Given the description of an element on the screen output the (x, y) to click on. 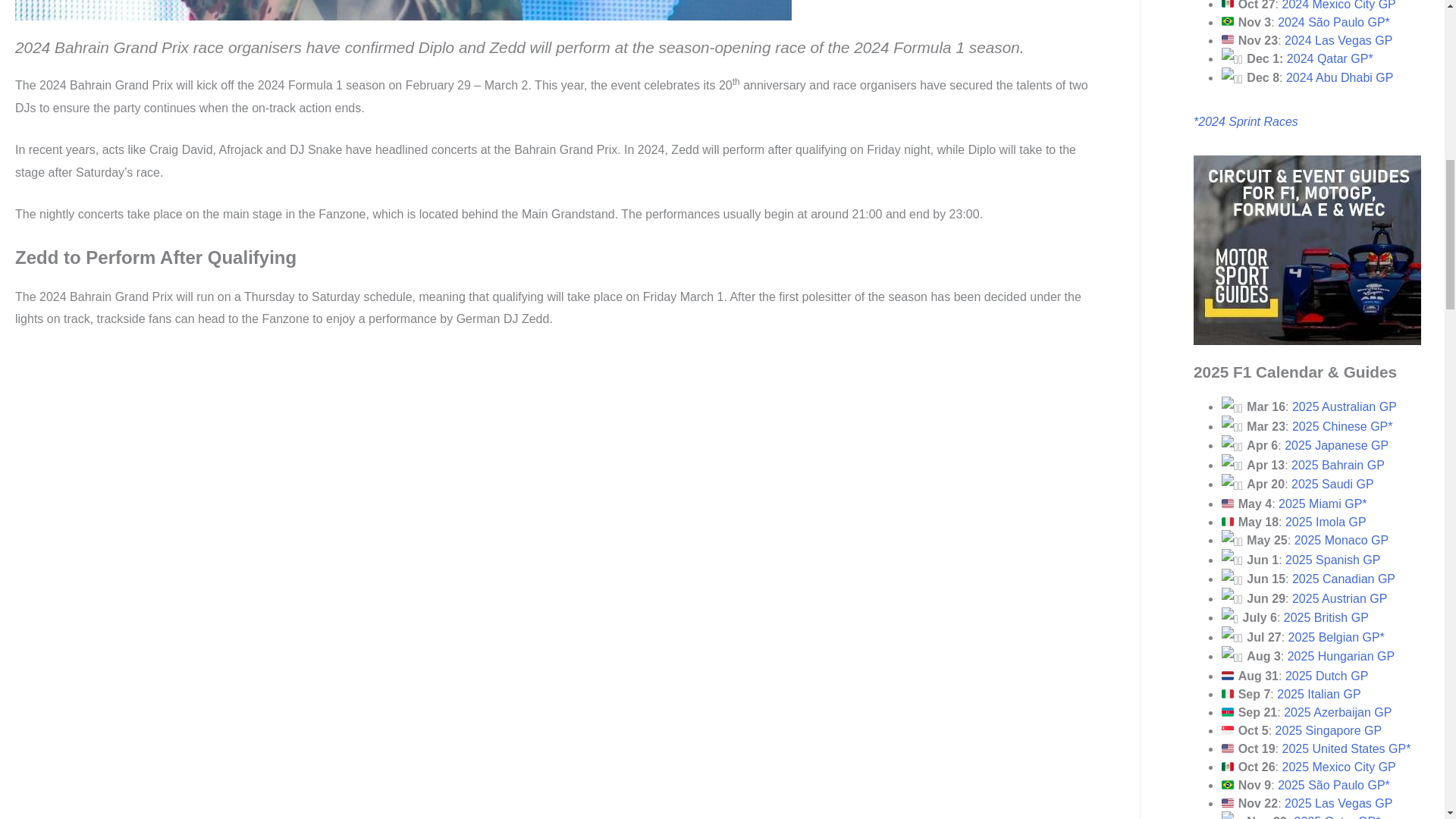
Races (1280, 121)
2024 Las Vegas GP (1337, 40)
2024 Mexico City GP (1337, 5)
2024 Abu Dhabi GP (1339, 77)
